Given the description of an element on the screen output the (x, y) to click on. 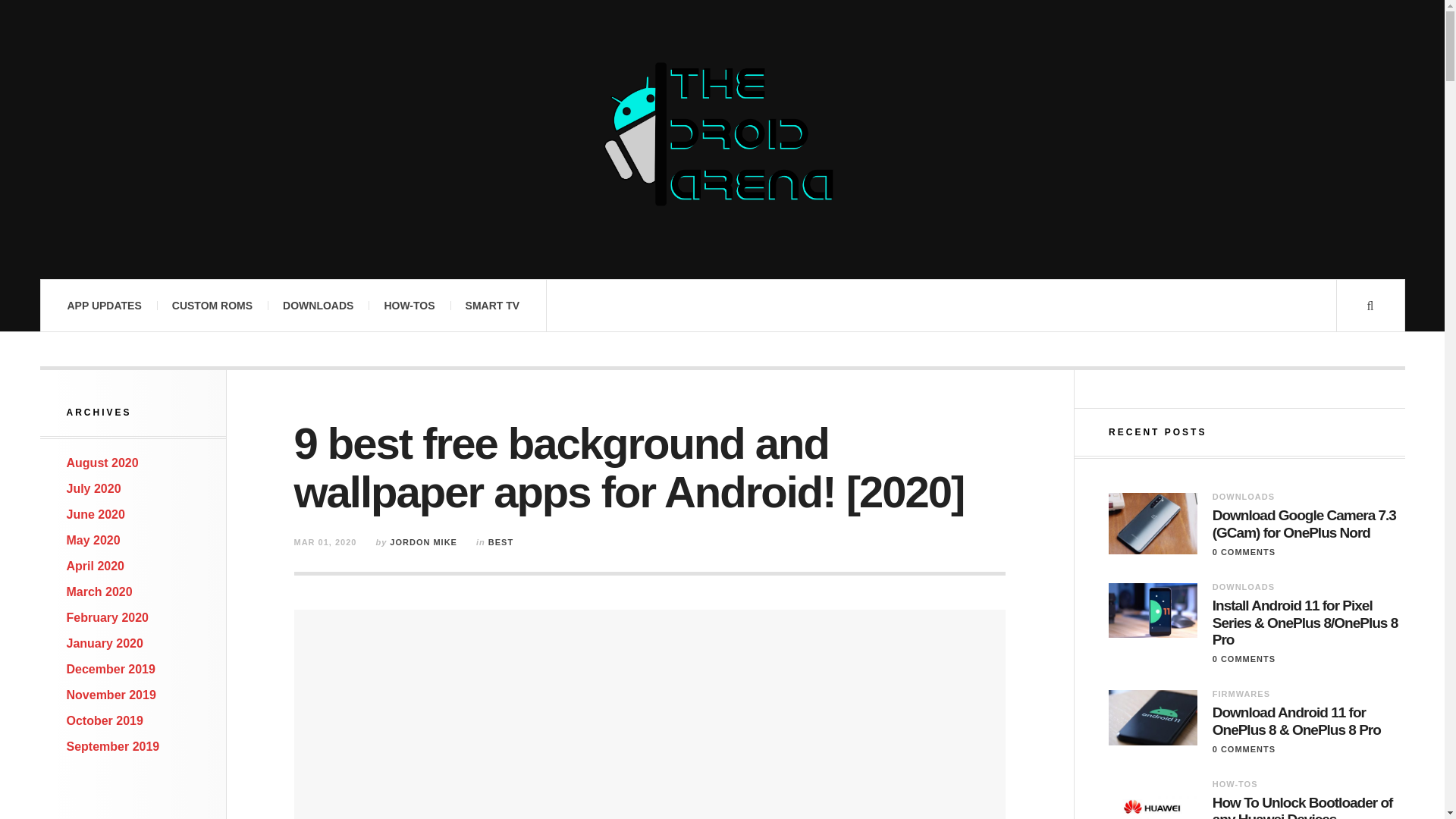
View all posts in Best (500, 542)
APP UPDATES (102, 305)
December 2019 (110, 668)
CUSTOM ROMS (212, 305)
DOWNLOADS (317, 305)
July 2020 (93, 488)
August 2020 (102, 462)
SMART TV (492, 305)
JORDON MIKE (423, 542)
BEST (500, 542)
November 2019 (110, 694)
April 2020 (94, 565)
May 2020 (93, 540)
October 2019 (104, 720)
